Given the description of an element on the screen output the (x, y) to click on. 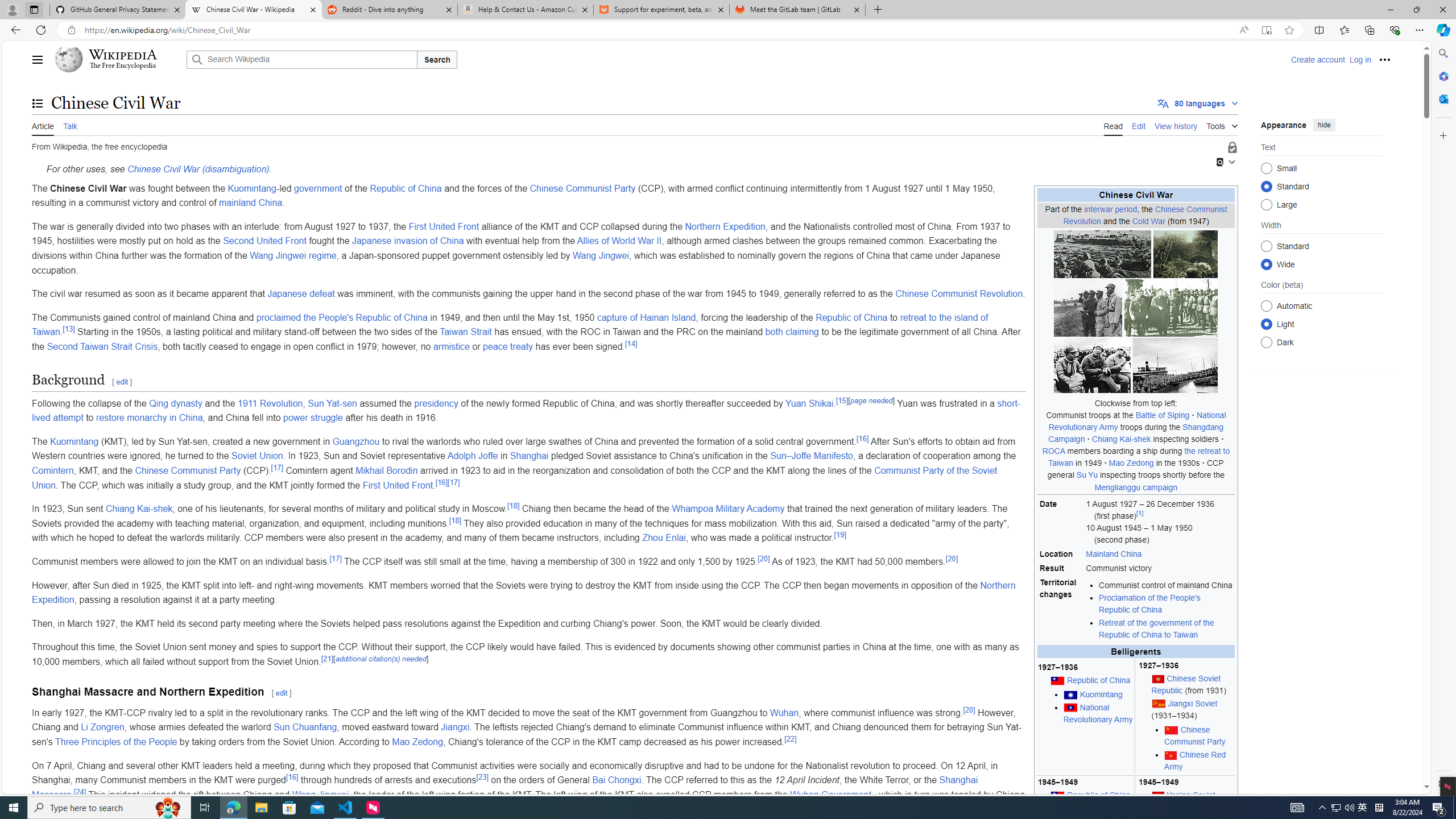
Su Yu (1086, 474)
Chinese Civil War - Wikipedia (253, 9)
Cold War (1147, 221)
Wuhan (784, 712)
[20] (968, 709)
Belligerents (1135, 651)
Wuhan Government (831, 794)
Talk (69, 124)
Result (1061, 568)
 Chinese Red Army (1199, 760)
